Given the description of an element on the screen output the (x, y) to click on. 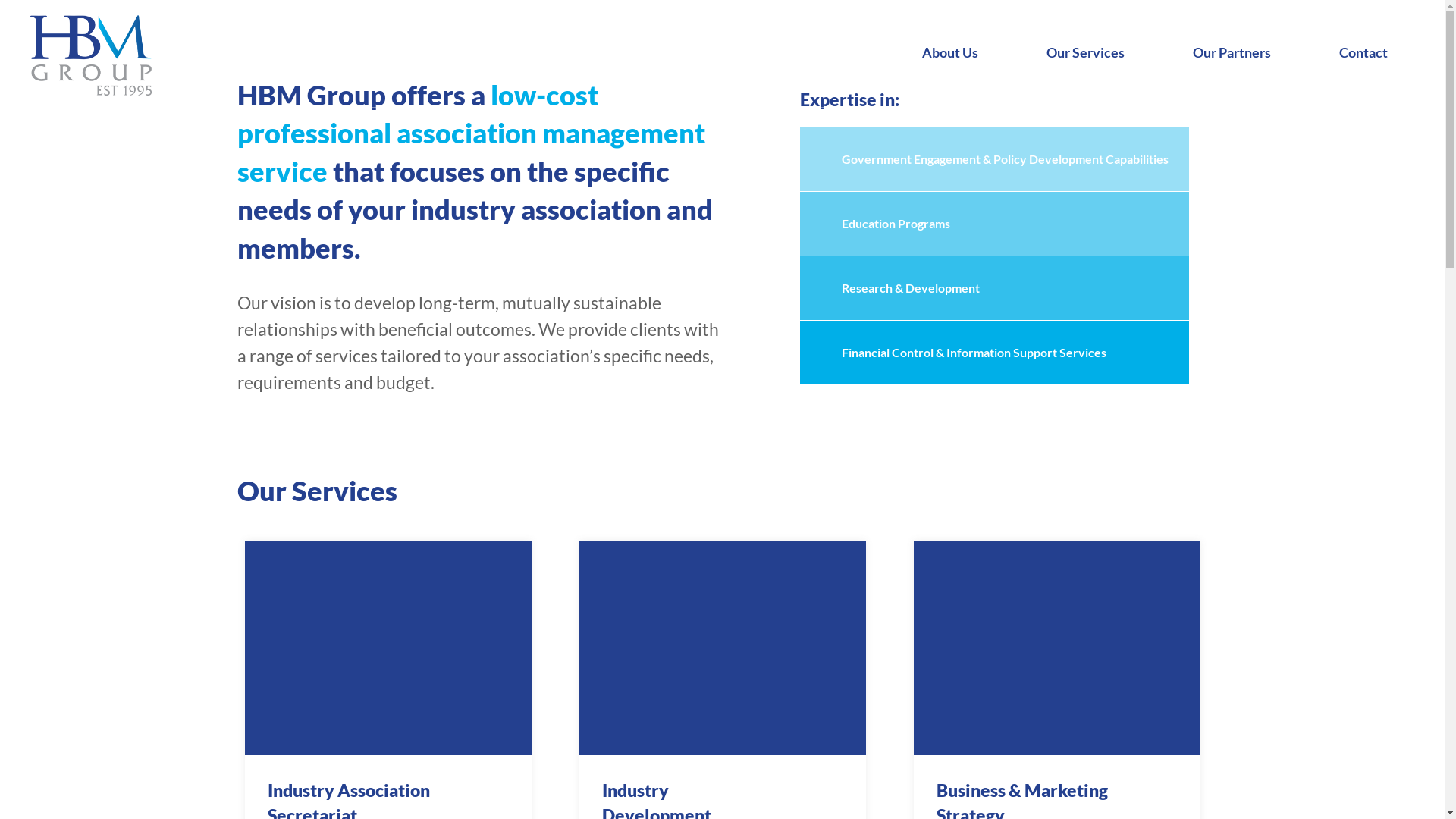
Contact Element type: text (1370, 52)
Our Partners Element type: text (1239, 52)
About Us Element type: text (957, 52)
Our Services Element type: text (1093, 52)
